Given the description of an element on the screen output the (x, y) to click on. 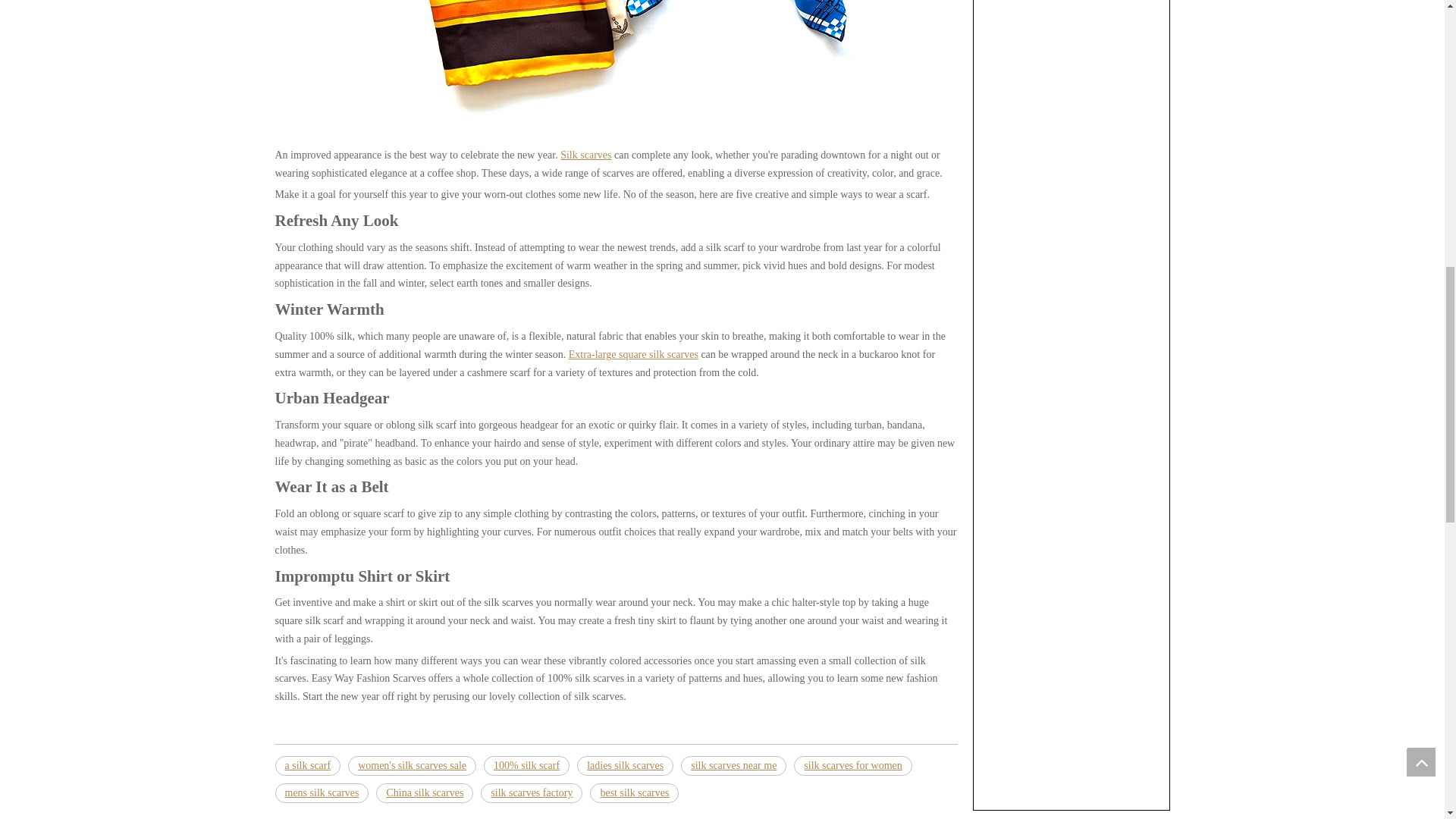
silk scarves for women (852, 765)
mens silk scarves (321, 792)
China silk scarves (424, 792)
silk scarves factory (531, 792)
Silk scarves (585, 154)
women's silk scarves sale (411, 765)
Silk scarves (585, 154)
silk scarves near me (733, 765)
a silk scarf (307, 765)
best silk scarves (633, 792)
